Given the description of an element on the screen output the (x, y) to click on. 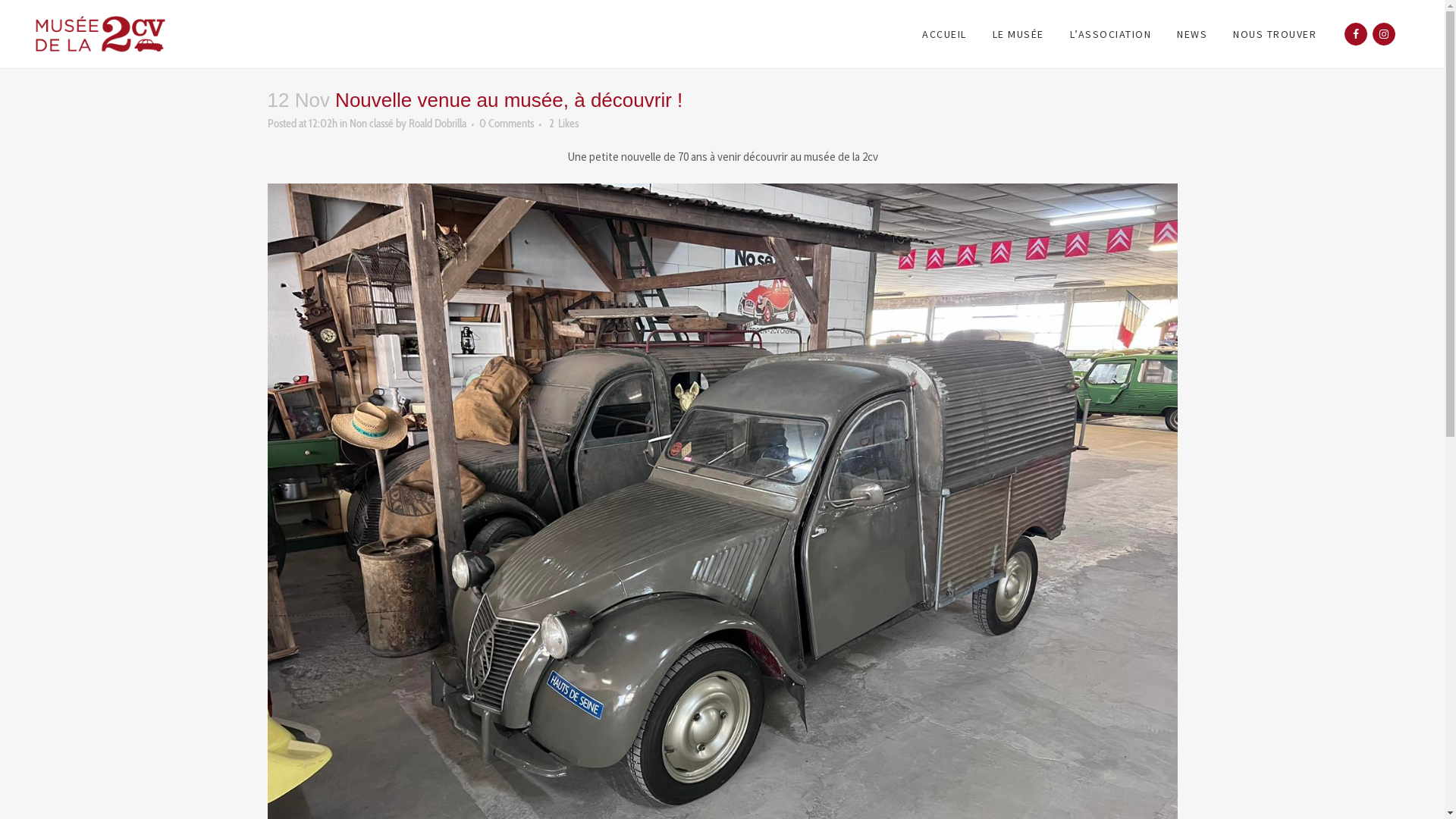
ACCUEIL Element type: text (944, 34)
NOUS TROUVER Element type: text (1274, 34)
0 Comments Element type: text (506, 123)
Roald Dobrilla Element type: text (436, 123)
2 Likes Element type: text (563, 123)
NEWS Element type: text (1192, 34)
